Given the description of an element on the screen output the (x, y) to click on. 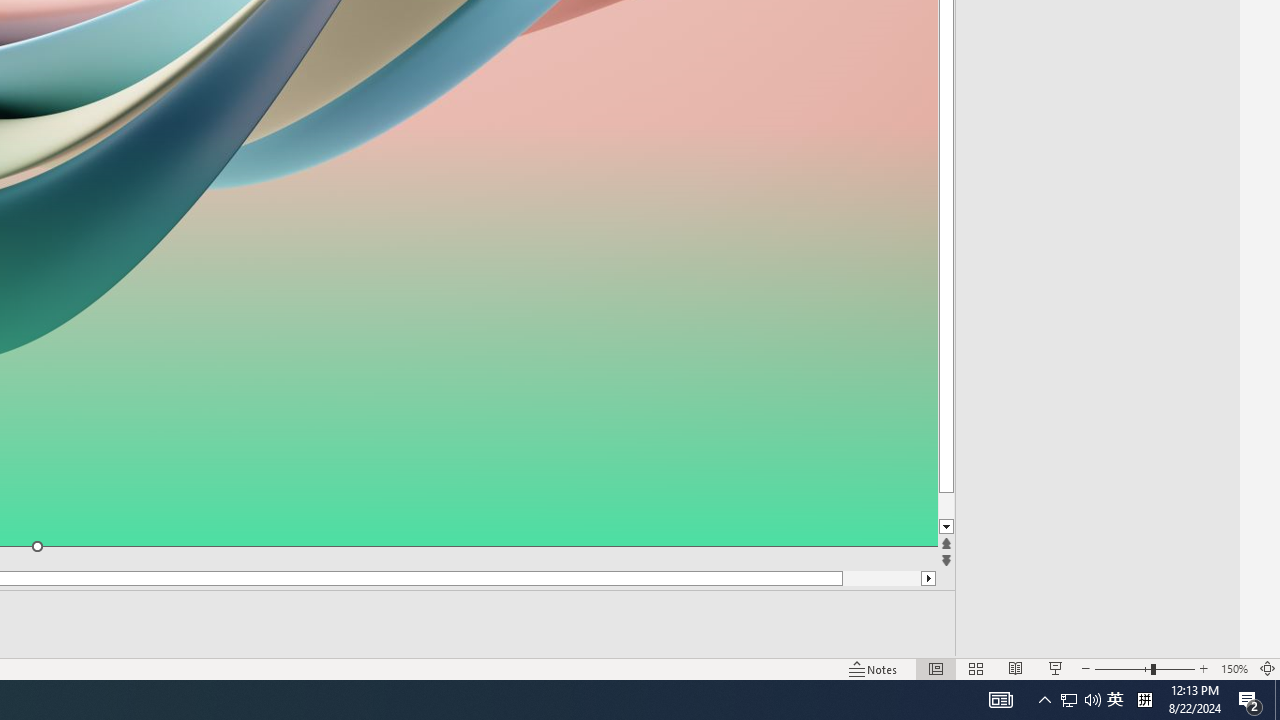
Zoom 150% (1234, 668)
